Given the description of an element on the screen output the (x, y) to click on. 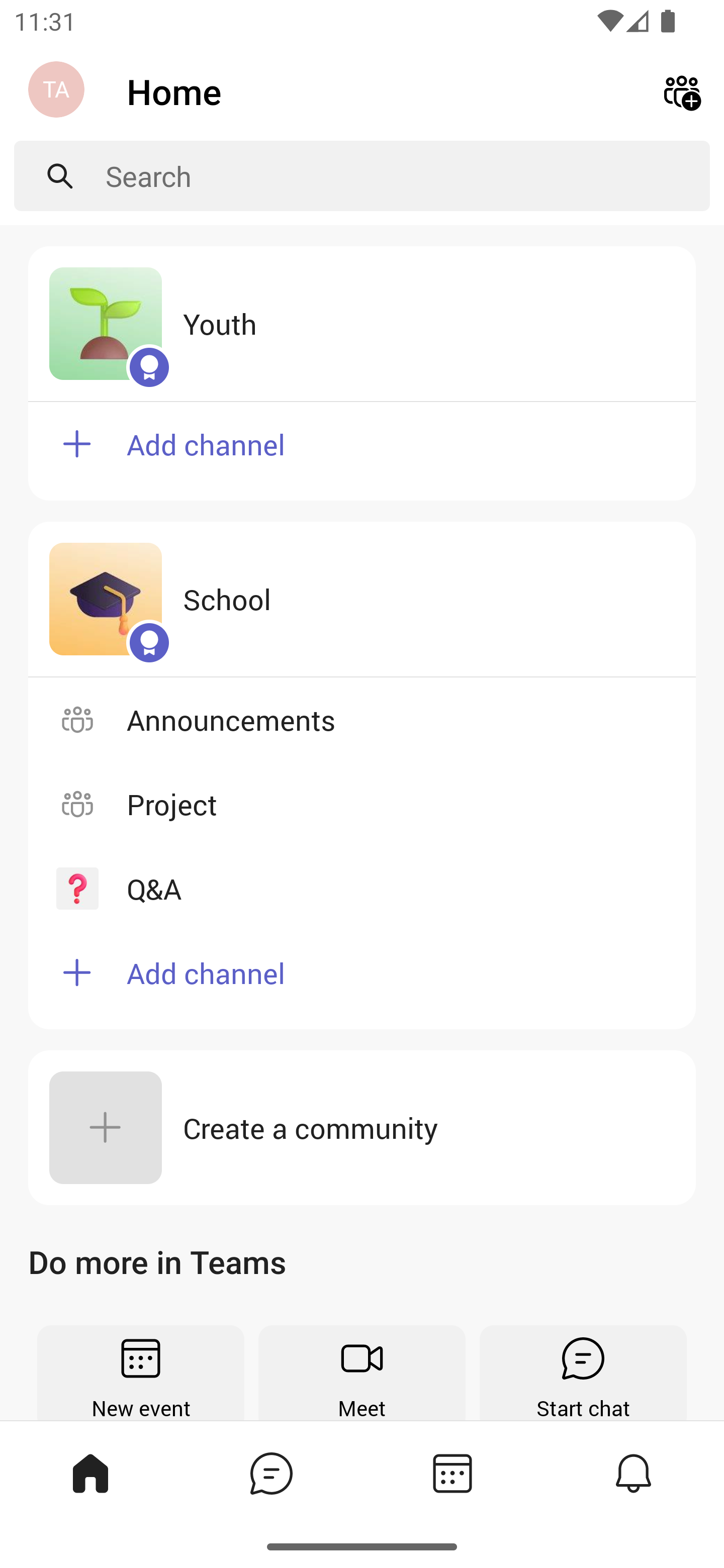
Create new community (681, 90)
Navigation (58, 91)
Search (407, 176)
Youth Community. Youth (361, 323)
Add a new channel to Youth community Add channel (361, 450)
School Community. School (361, 599)
Announcements Channel. Announcements (361, 719)
Project Channel. Project (361, 804)
Q&A Channel. Q&A (361, 888)
Add a new channel to School community Add channel (361, 979)
Create a community (361, 1127)
New event (140, 1372)
Meet (361, 1372)
Start chat (582, 1372)
Home tab, 1 of 4 (89, 1472)
Chat tab,2 of 4, not selected (270, 1472)
Calendar tab,3 of 4, not selected (451, 1472)
Activity tab,4 of 4, not selected (632, 1472)
